Given the description of an element on the screen output the (x, y) to click on. 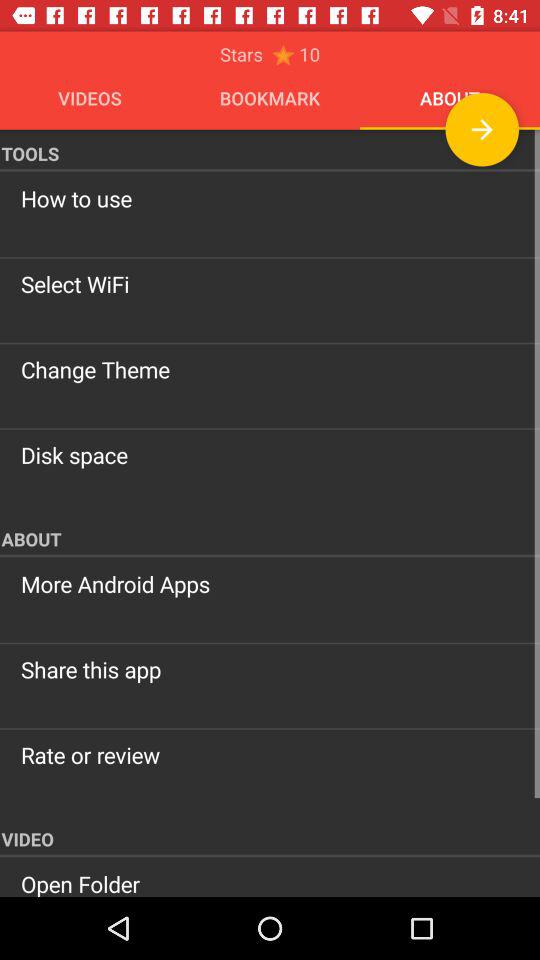
tap the icon below videos icon (270, 150)
